Given the description of an element on the screen output the (x, y) to click on. 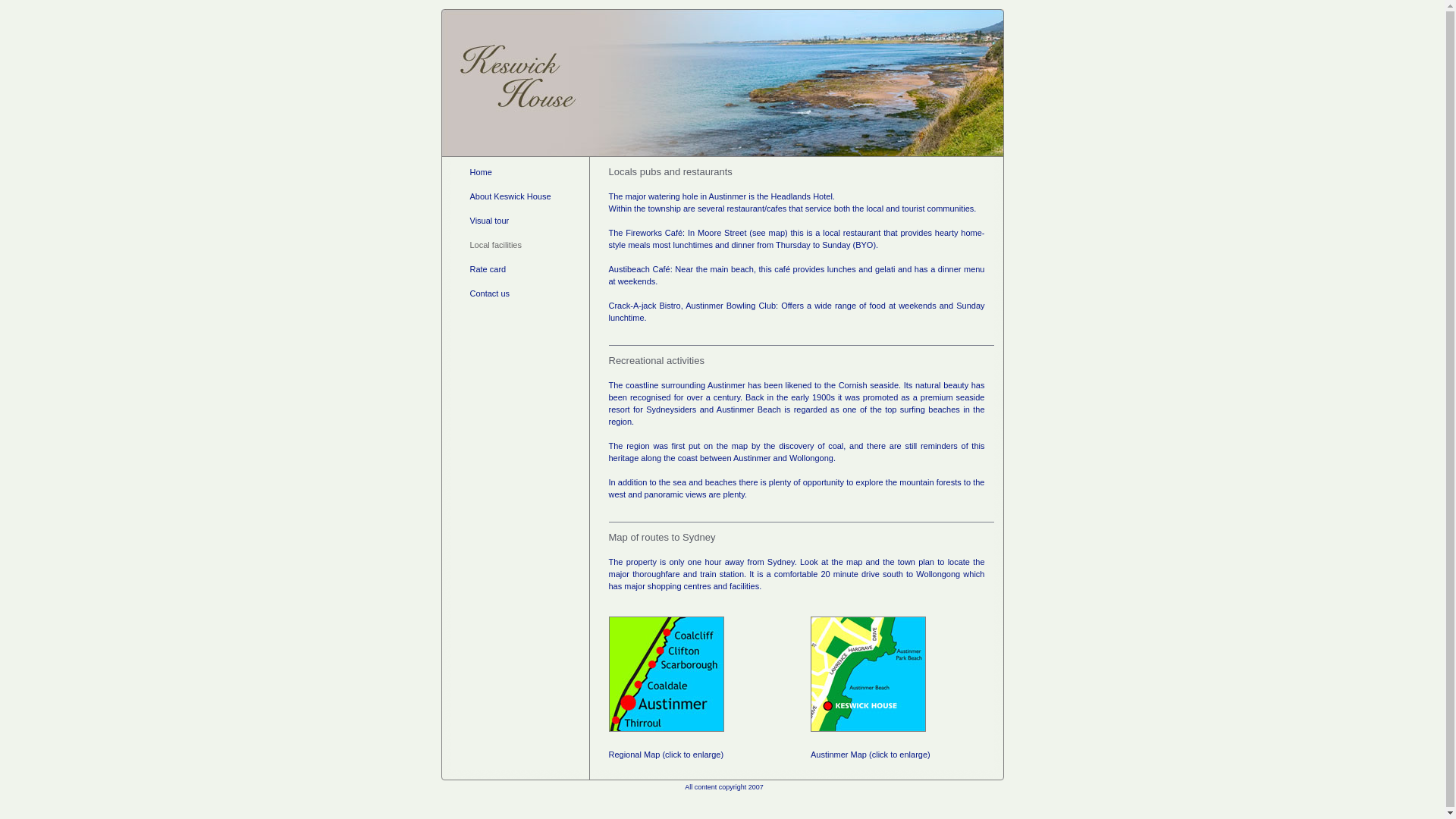
Visual tour Element type: text (489, 220)
Contact us Element type: text (490, 293)
About Keswick House Element type: text (510, 195)
Home Element type: text (481, 171)
Rate card Element type: text (488, 268)
